Given the description of an element on the screen output the (x, y) to click on. 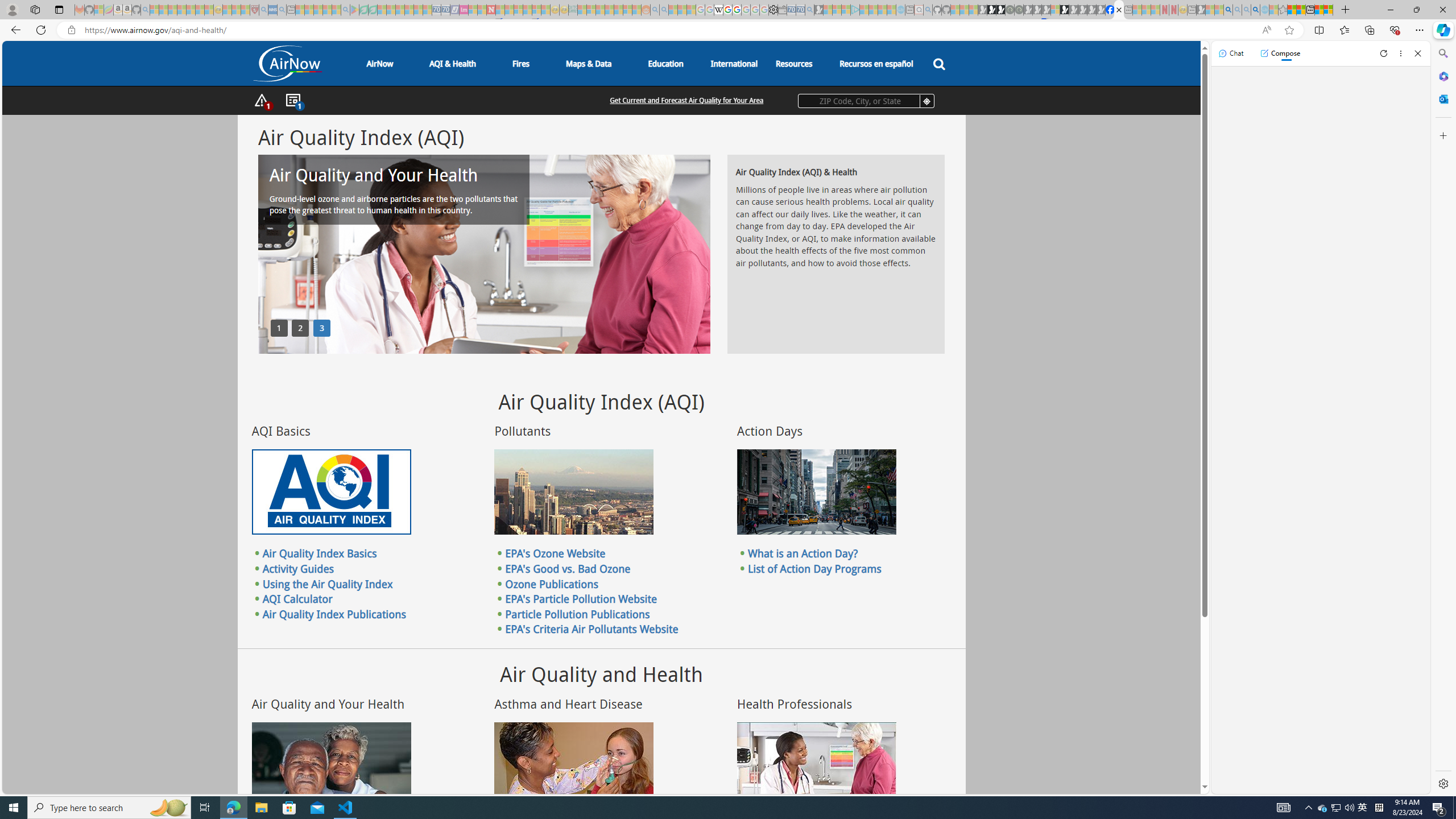
ZIP Code, City, or State (865, 100)
AutomationID: nav-alerts-toggle (261, 100)
City traffic (816, 491)
